Given the description of an element on the screen output the (x, y) to click on. 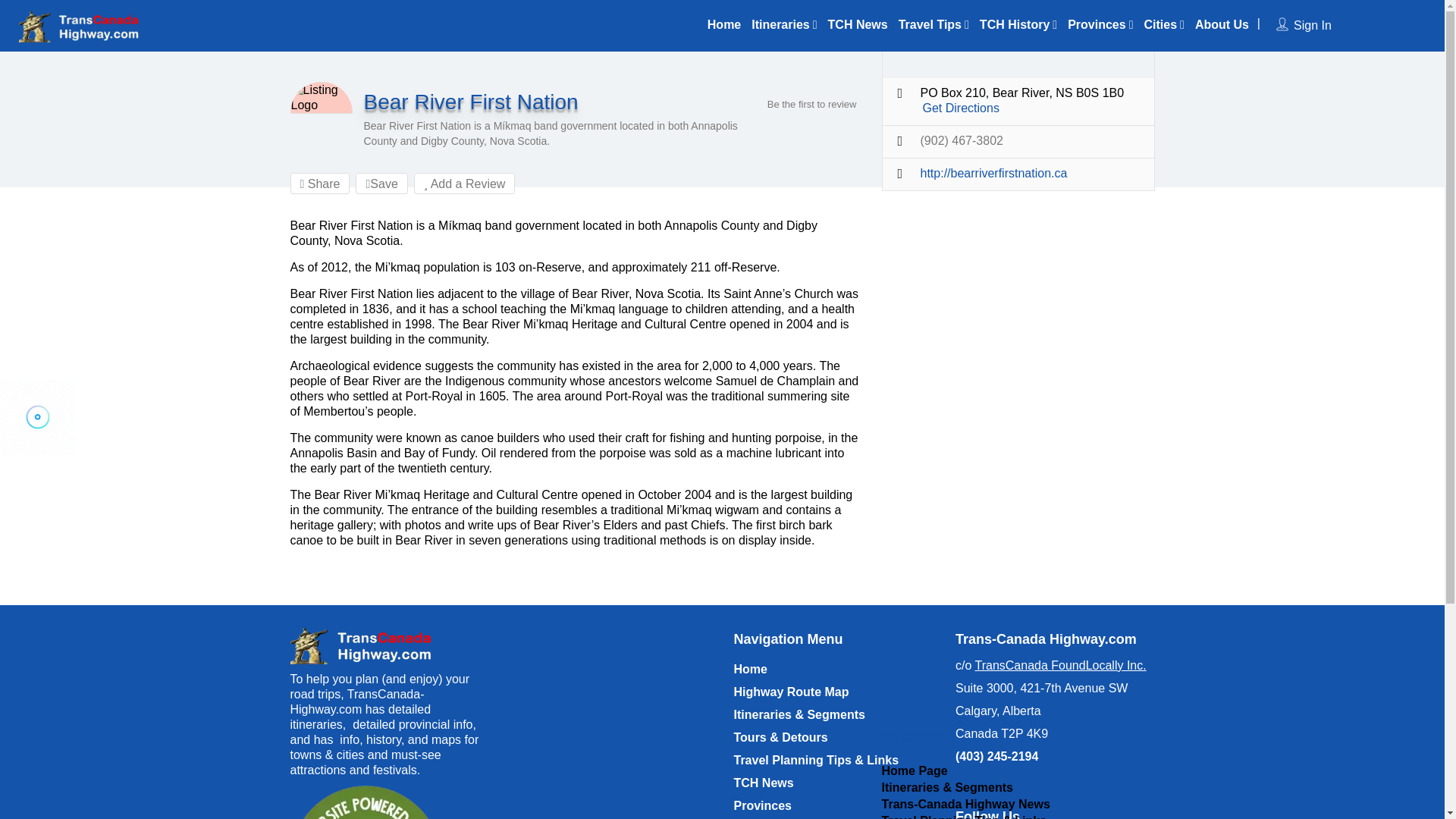
CLICK to go to TransCanadaHighway.com home page (365, 646)
Trans-Canada Highway.com please wait to load (37, 417)
